Given the description of an element on the screen output the (x, y) to click on. 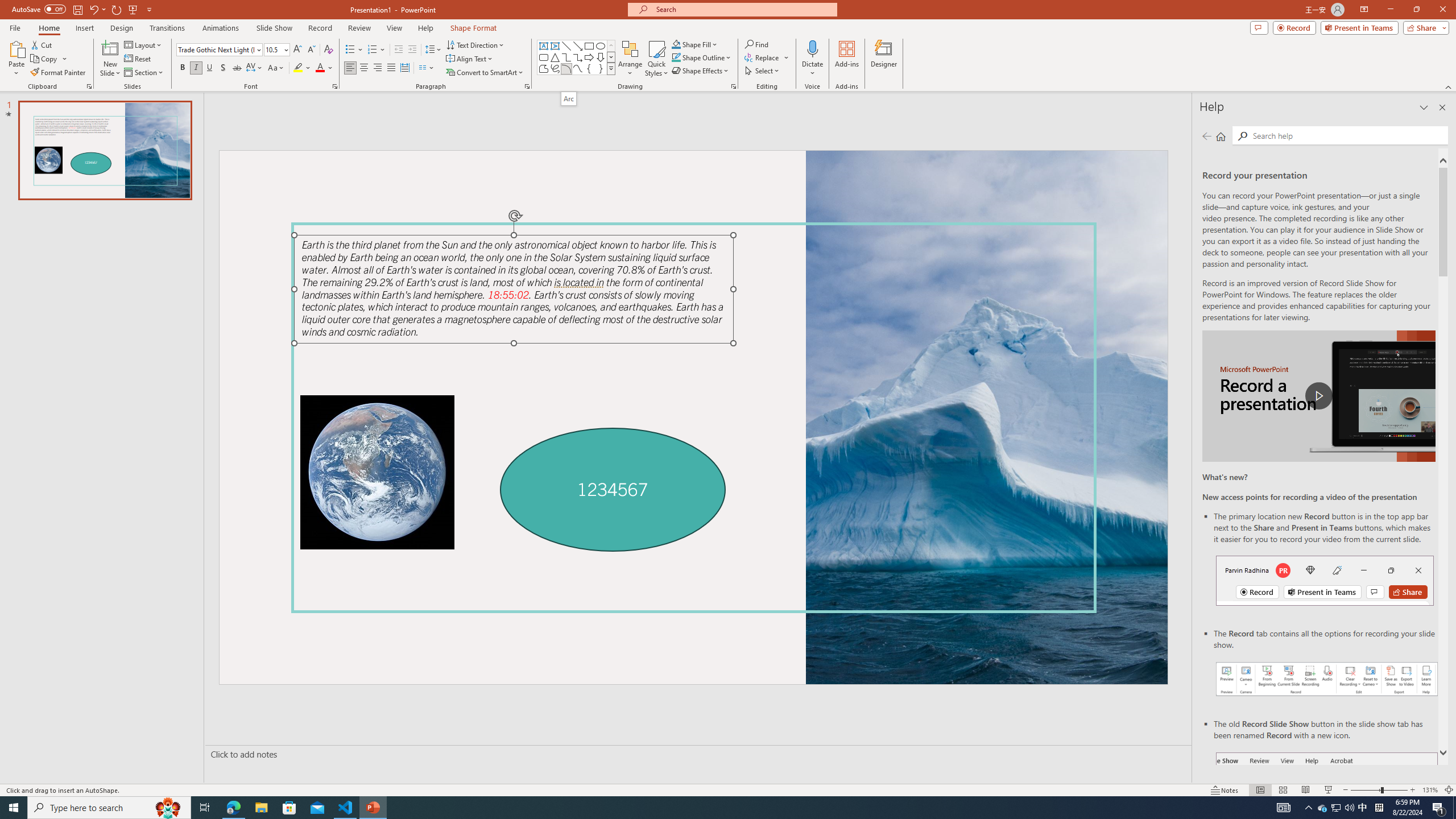
play Record a Presentation (1318, 395)
